Given the description of an element on the screen output the (x, y) to click on. 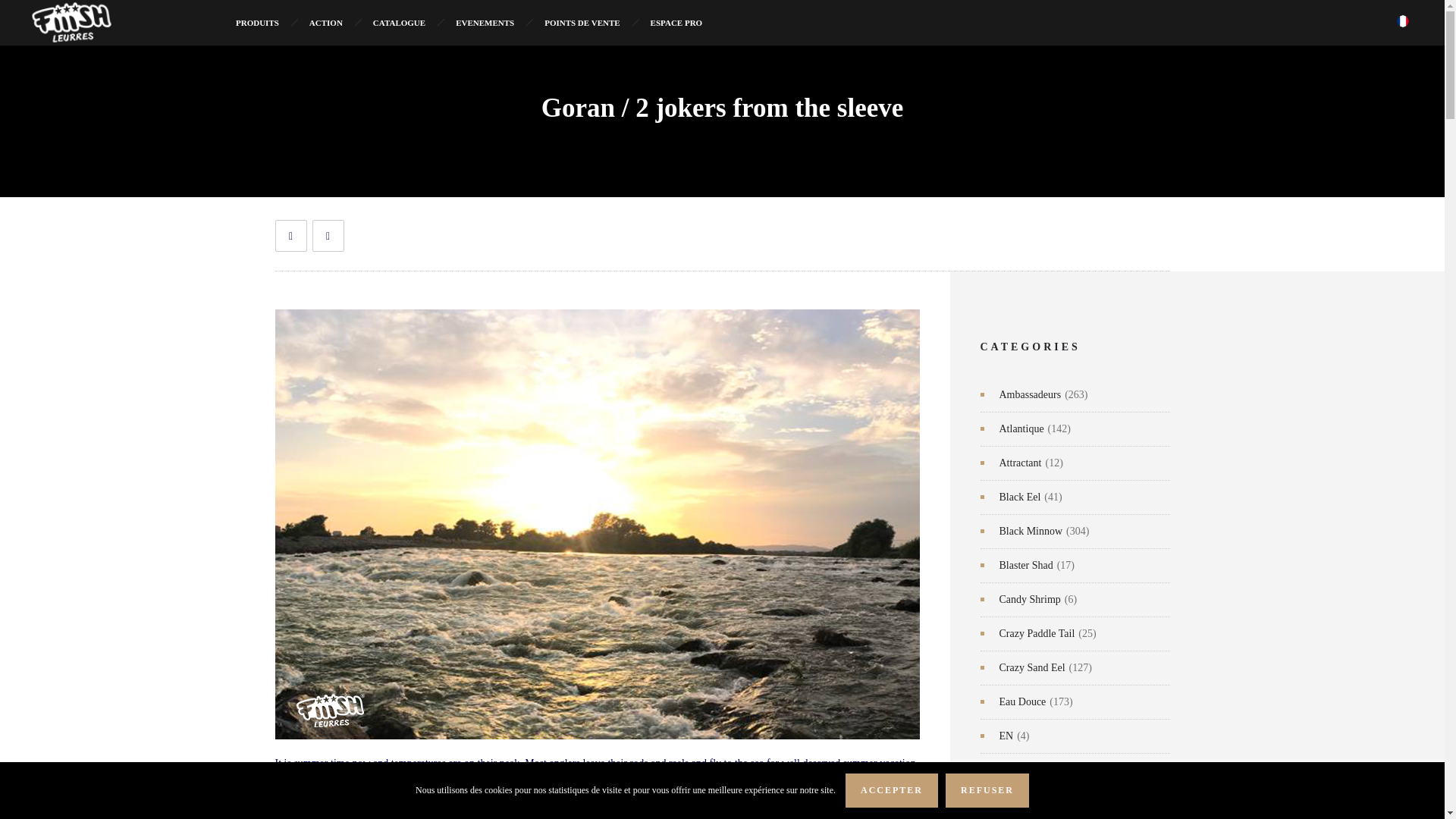
ESPACE PRO (675, 22)
EVENEMENTS (485, 22)
PRODUITS (257, 22)
POINTS DE VENTE (581, 22)
CATALOGUE (399, 22)
ACTION (326, 22)
